Given the description of an element on the screen output the (x, y) to click on. 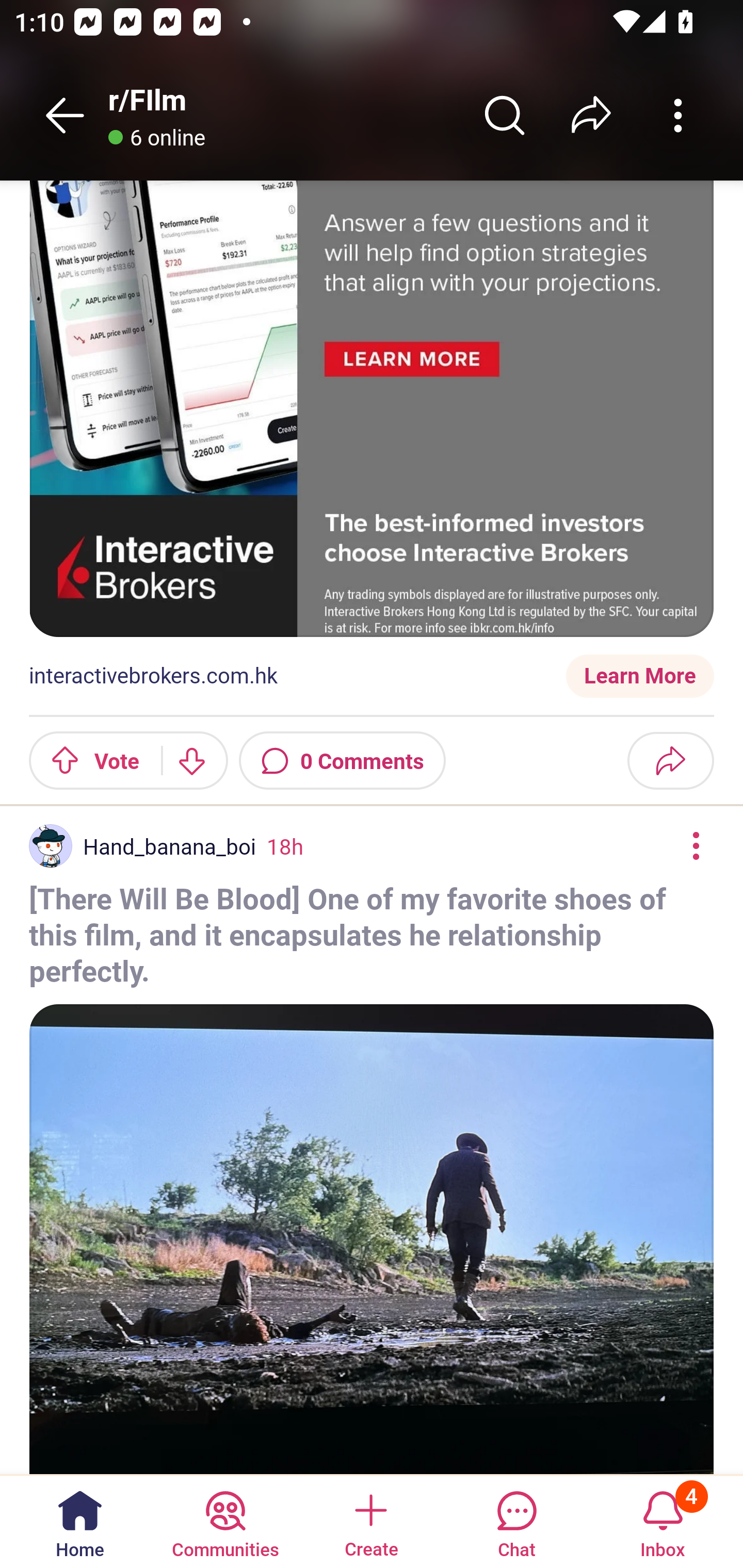
Back (64, 115)
Search r/﻿FIlm (504, 115)
Share r/﻿FIlm (591, 115)
More community actions (677, 115)
Home (80, 1520)
Communities (225, 1520)
Create a post Create (370, 1520)
Chat (516, 1520)
Inbox, has 4 notifications 4 Inbox (662, 1520)
